Given the description of an element on the screen output the (x, y) to click on. 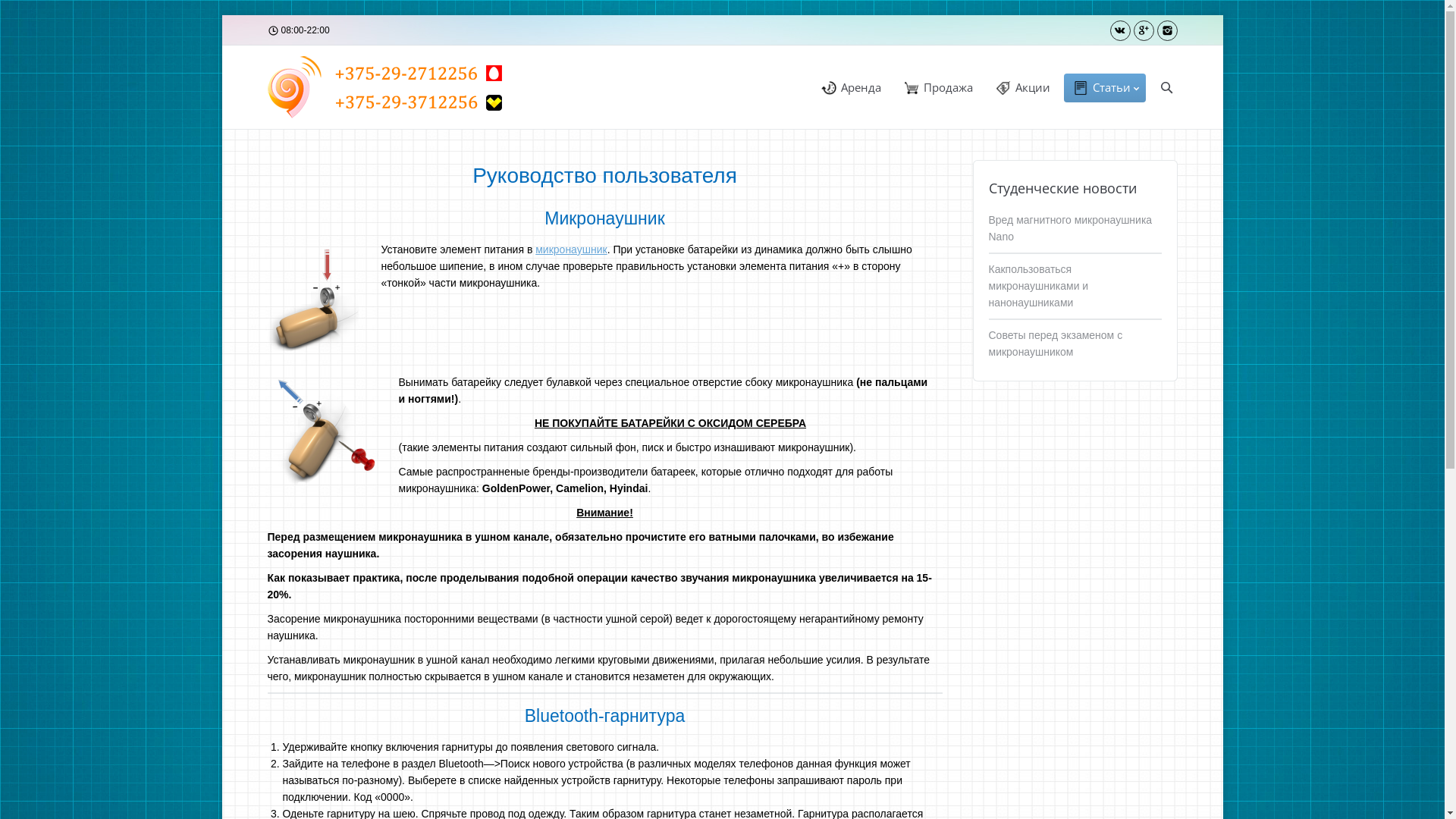
VK Element type: hover (1120, 30)
Go! Element type: text (15, 11)
Instagram Element type: hover (1167, 30)
Google+ Element type: hover (1142, 30)
